Given the description of an element on the screen output the (x, y) to click on. 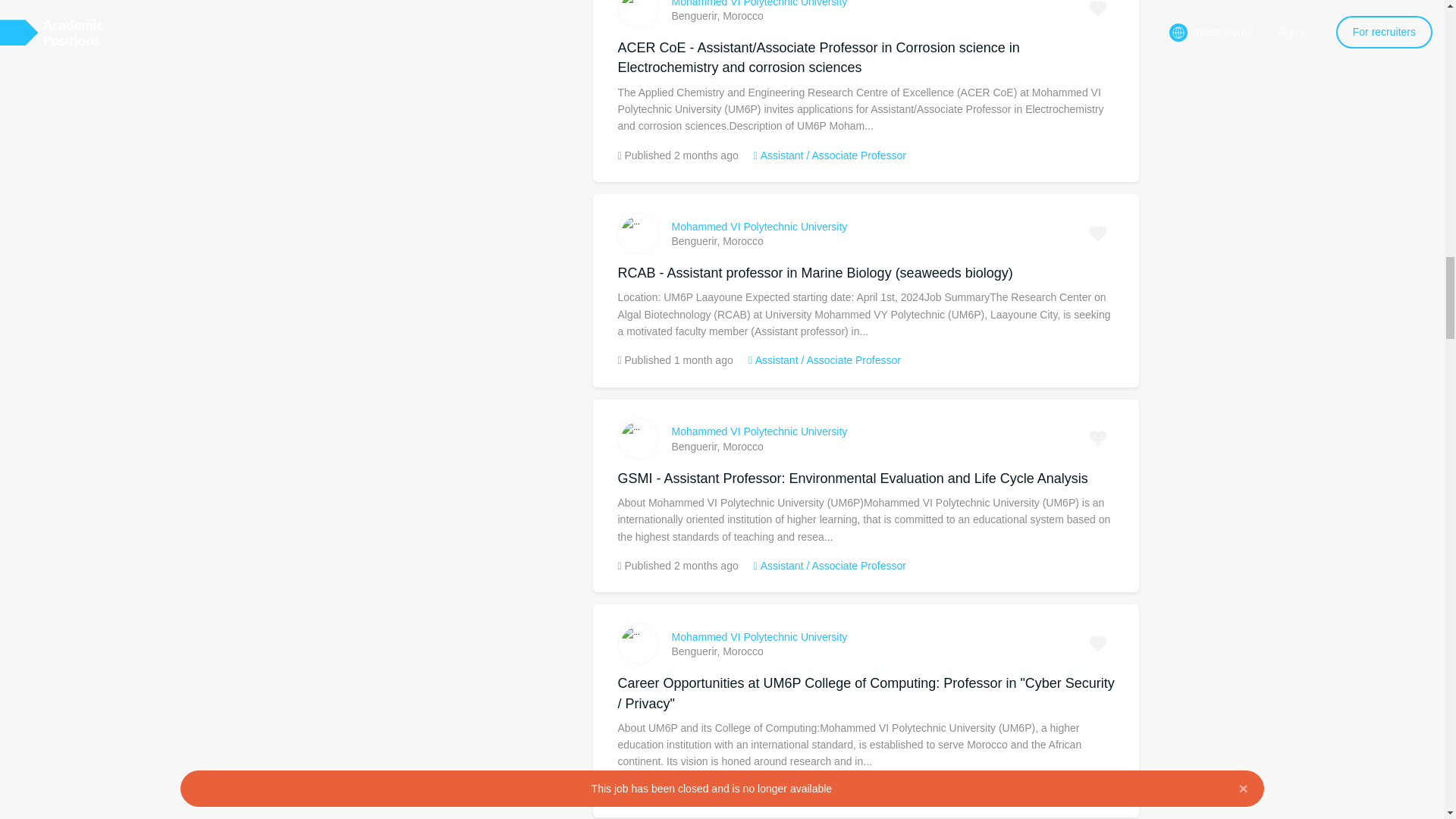
Please login to favorite the job. (1098, 233)
Please login to favorite the job. (1098, 12)
Please login to favorite the job. (1098, 438)
